Given the description of an element on the screen output the (x, y) to click on. 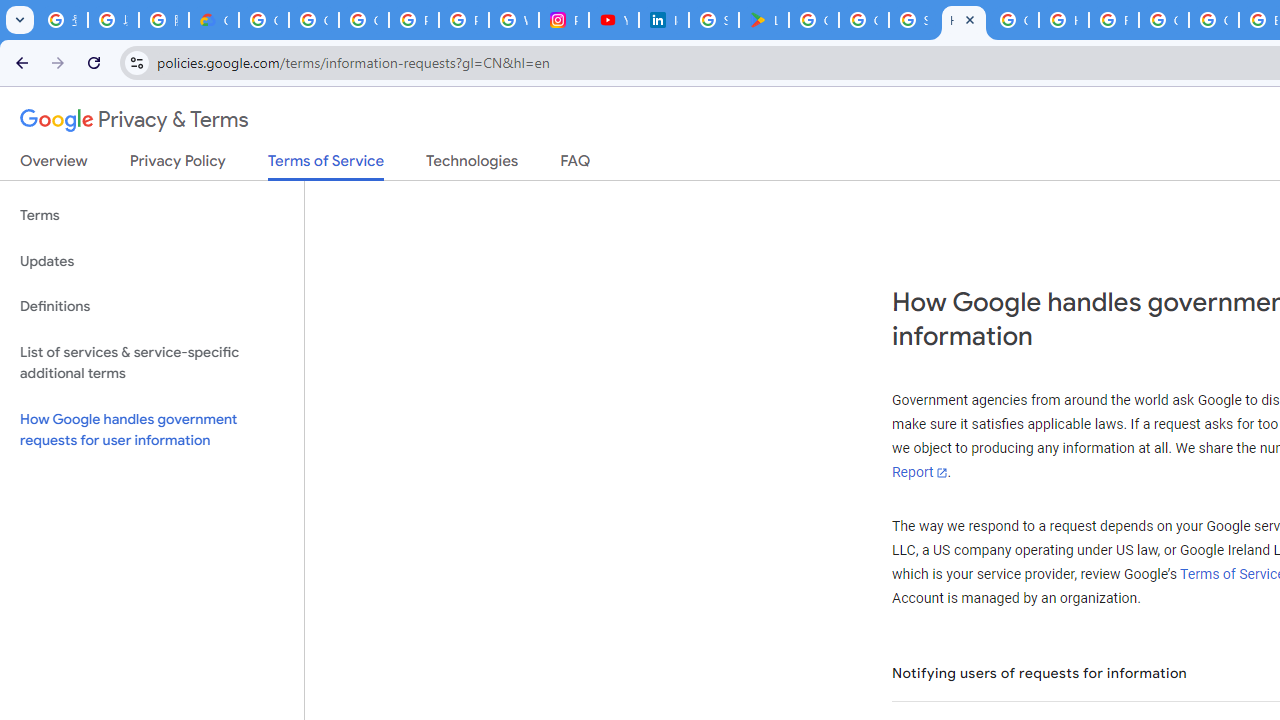
YouTube Culture & Trends - On The Rise: Handcam Videos (613, 20)
Last Shelter: Survival - Apps on Google Play (763, 20)
Sign in - Google Accounts (914, 20)
